Given the description of an element on the screen output the (x, y) to click on. 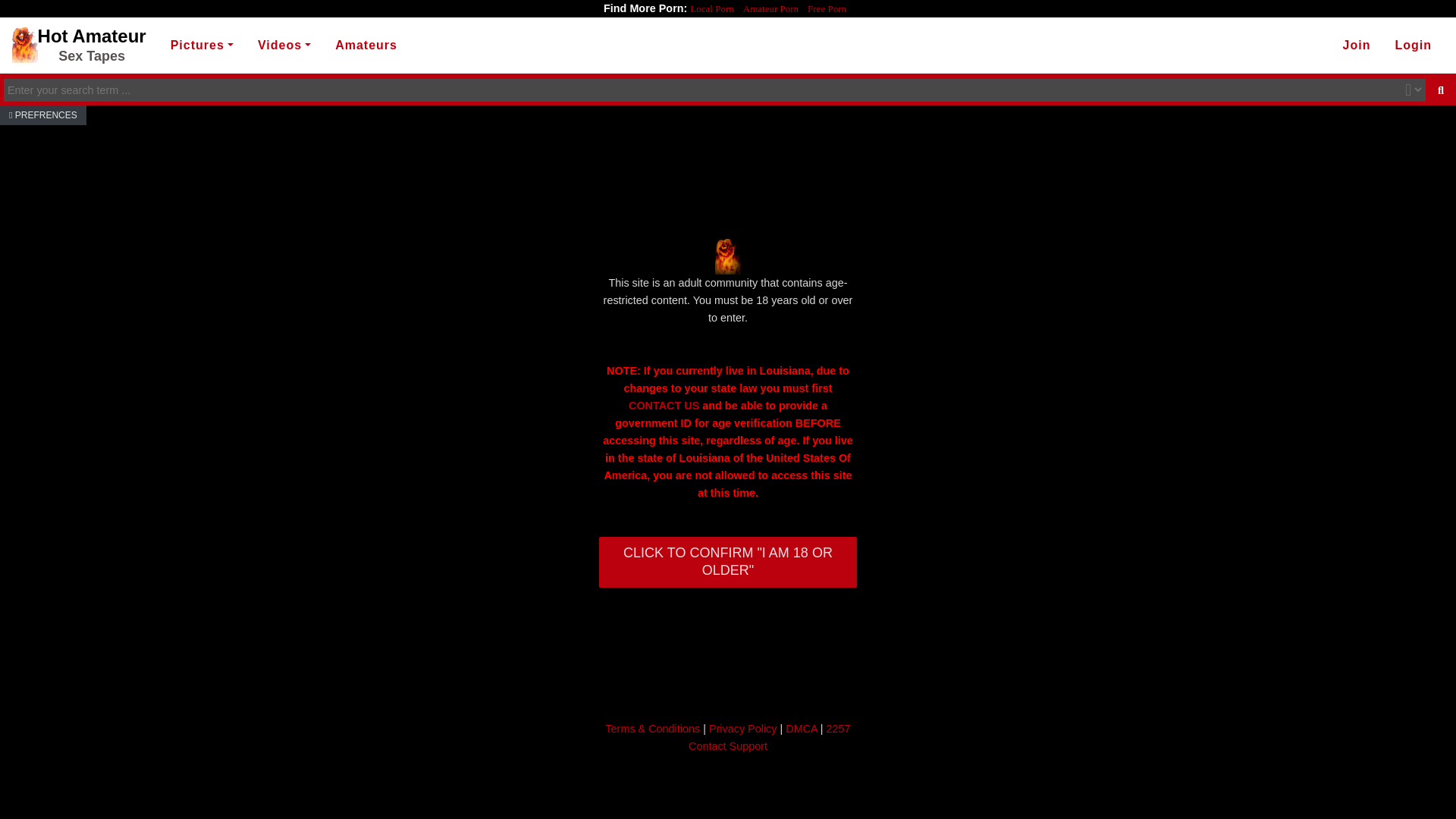
Videos (284, 45)
Return Home (79, 45)
Privacy Policy (743, 728)
Join (1356, 45)
Amateurs (366, 45)
Pictures (202, 45)
CLICK TO CONFIRM "I AM 18 OR OLDER" (727, 562)
DMCA (801, 728)
Contact Support (727, 746)
Local Porn (79, 45)
Login (711, 8)
CONTACT US (1413, 45)
Free Porn (663, 405)
Amateur Porn (826, 8)
